Given the description of an element on the screen output the (x, y) to click on. 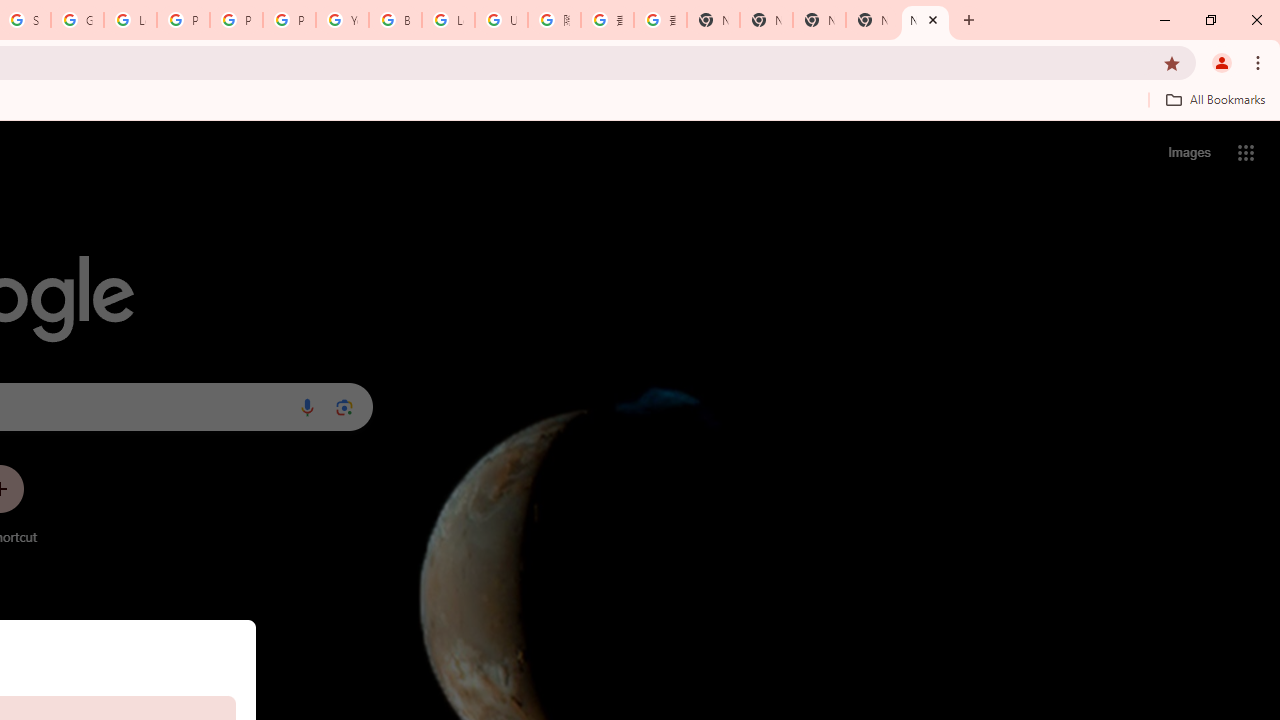
Privacy Help Center - Policies Help (183, 20)
New Tab (713, 20)
New Tab (925, 20)
